Given the description of an element on the screen output the (x, y) to click on. 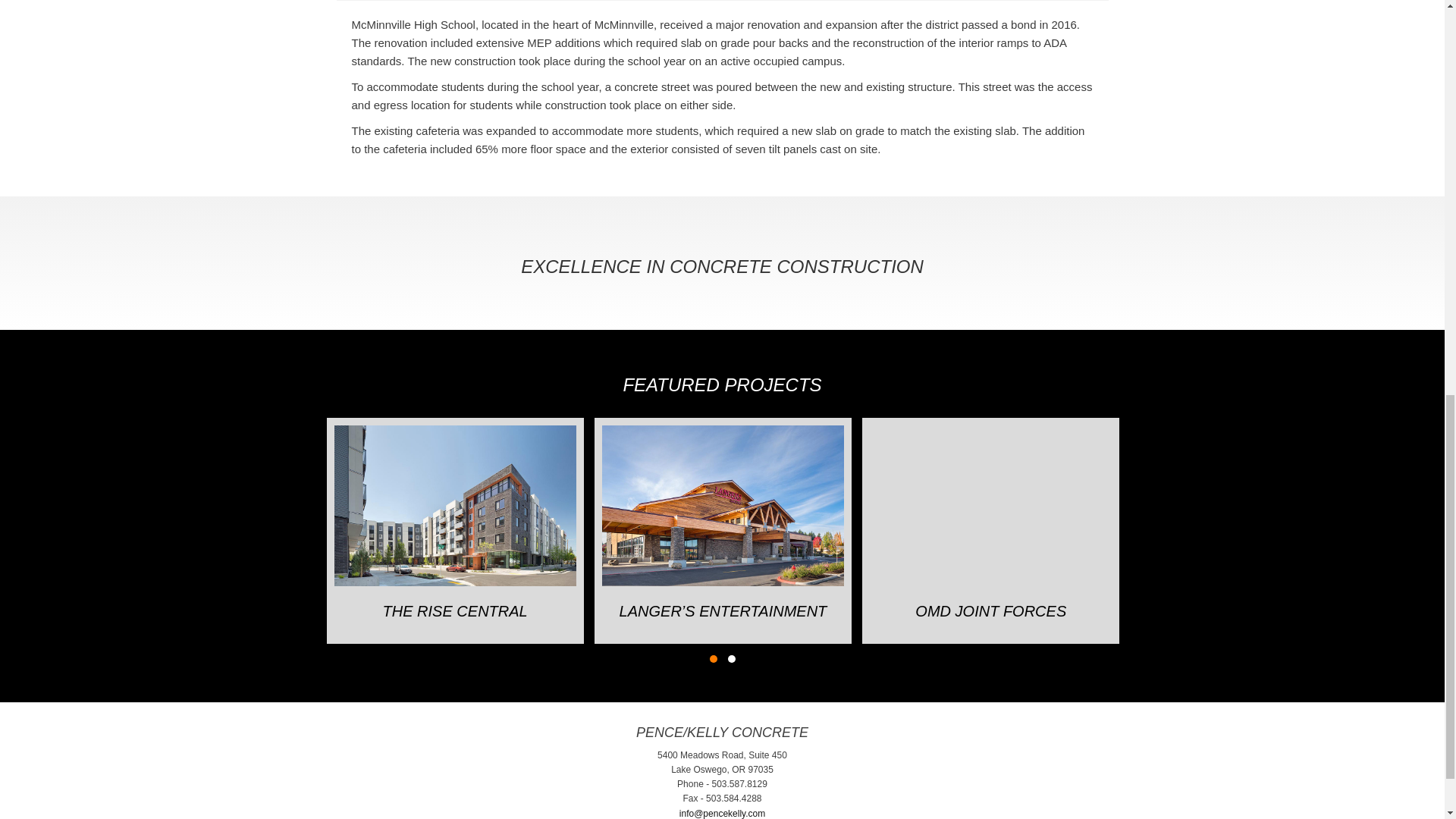
The Rise Central (455, 505)
Slide group 2 (730, 658)
OMD Joint Forces (990, 505)
THE RISE CENTRAL (455, 611)
OMD JOINT FORCES (990, 611)
OMD Joint Forces (990, 611)
Slide group 1 (712, 658)
The Rise Central (455, 611)
